Given the description of an element on the screen output the (x, y) to click on. 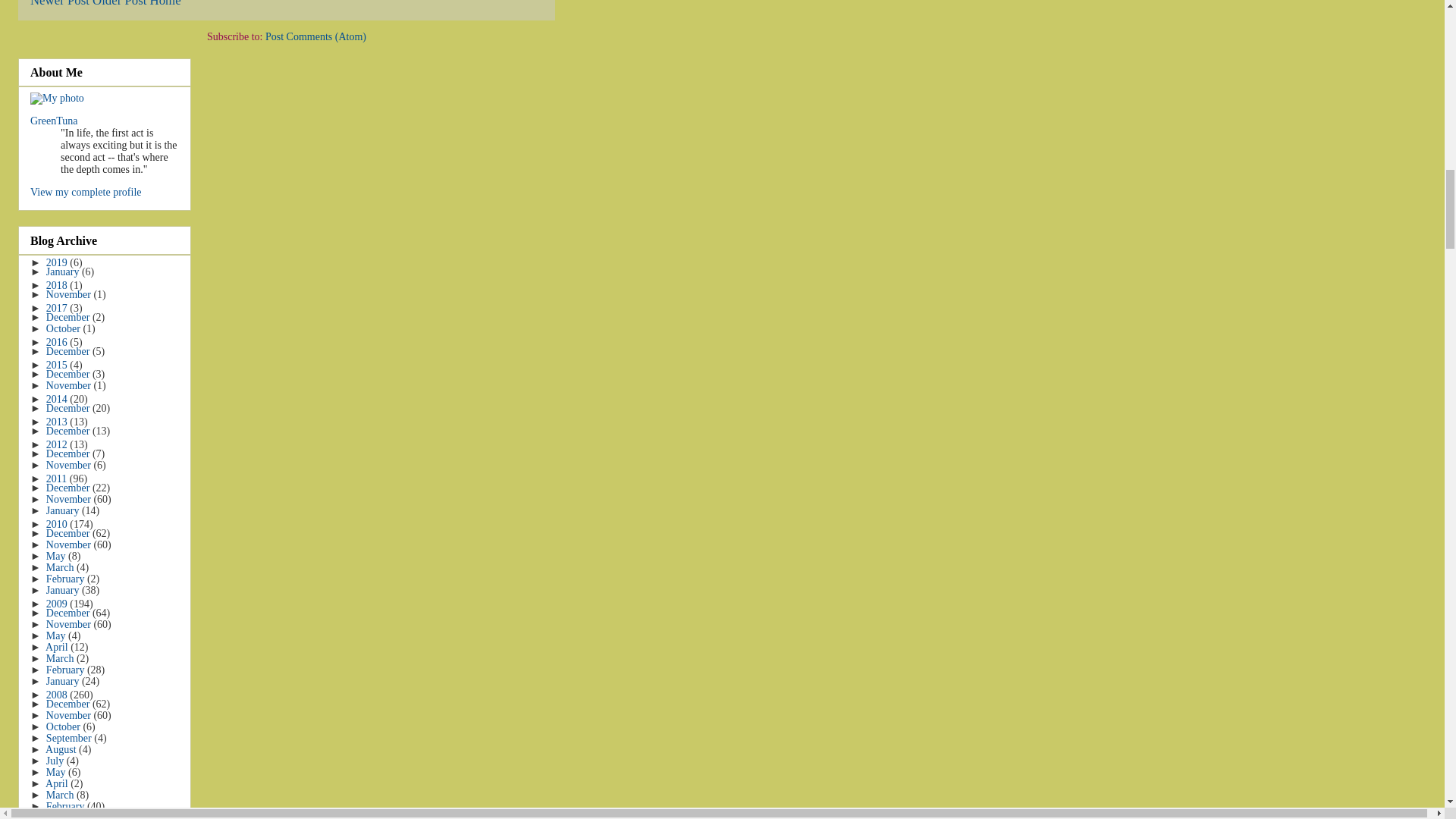
Older Post (120, 3)
GreenTuna (53, 120)
January (63, 271)
Newer Post (59, 3)
View my complete profile (85, 192)
November (70, 294)
2017 (57, 307)
December (69, 317)
Home (164, 3)
2019 (57, 262)
October (64, 328)
Older Post (120, 3)
Newer Post (59, 3)
2018 (57, 285)
